Given the description of an element on the screen output the (x, y) to click on. 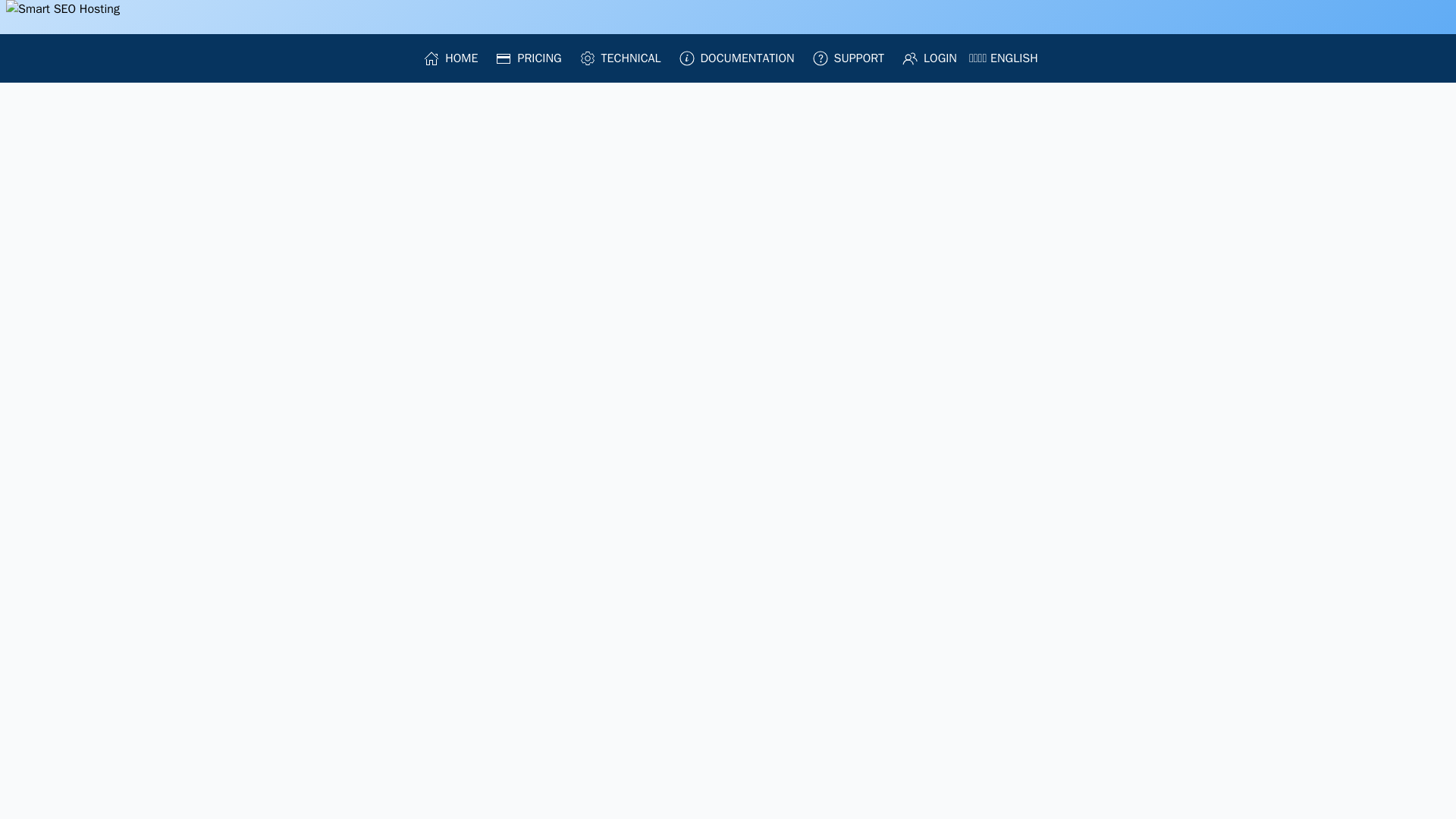
SEO Hosting Home (108, 17)
